Given the description of an element on the screen output the (x, y) to click on. 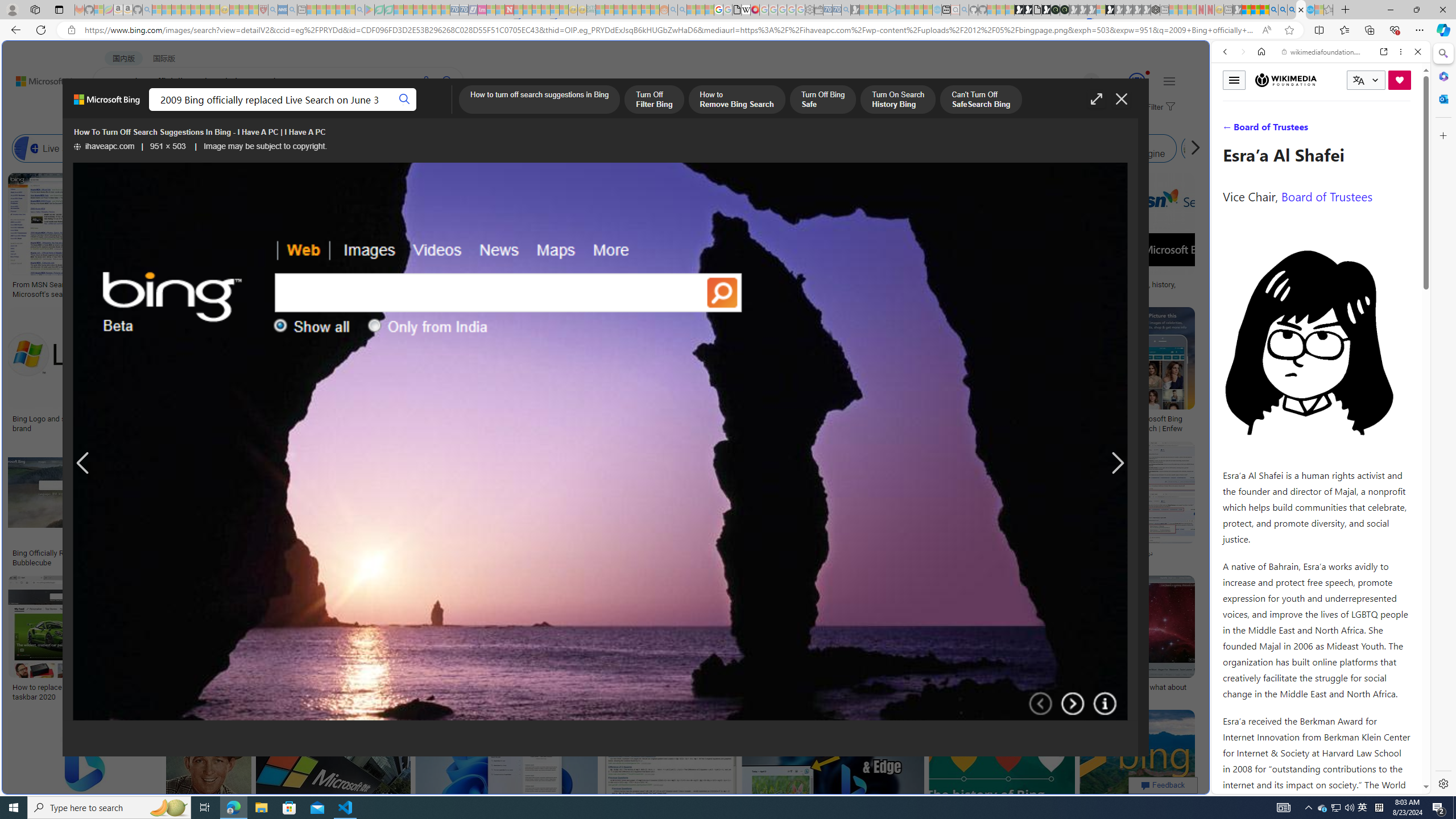
Live Search (25, 148)
Technology History timeline | Timetoast timelines (833, 289)
Favorites - Sleeping (1328, 9)
Turn Off Bing Safe (822, 100)
Bing Picture Search Engine (224, 148)
AutomationID: serp_medal_svg (1136, 81)
How to Remove Bing Search (736, 100)
Bing Best Search Engine (633, 148)
Technology History timeline | Timetoast timelinesSave (835, 237)
Full screen (1096, 99)
Bing: rebranding search: idsgn (a design blog) (699, 289)
